Given the description of an element on the screen output the (x, y) to click on. 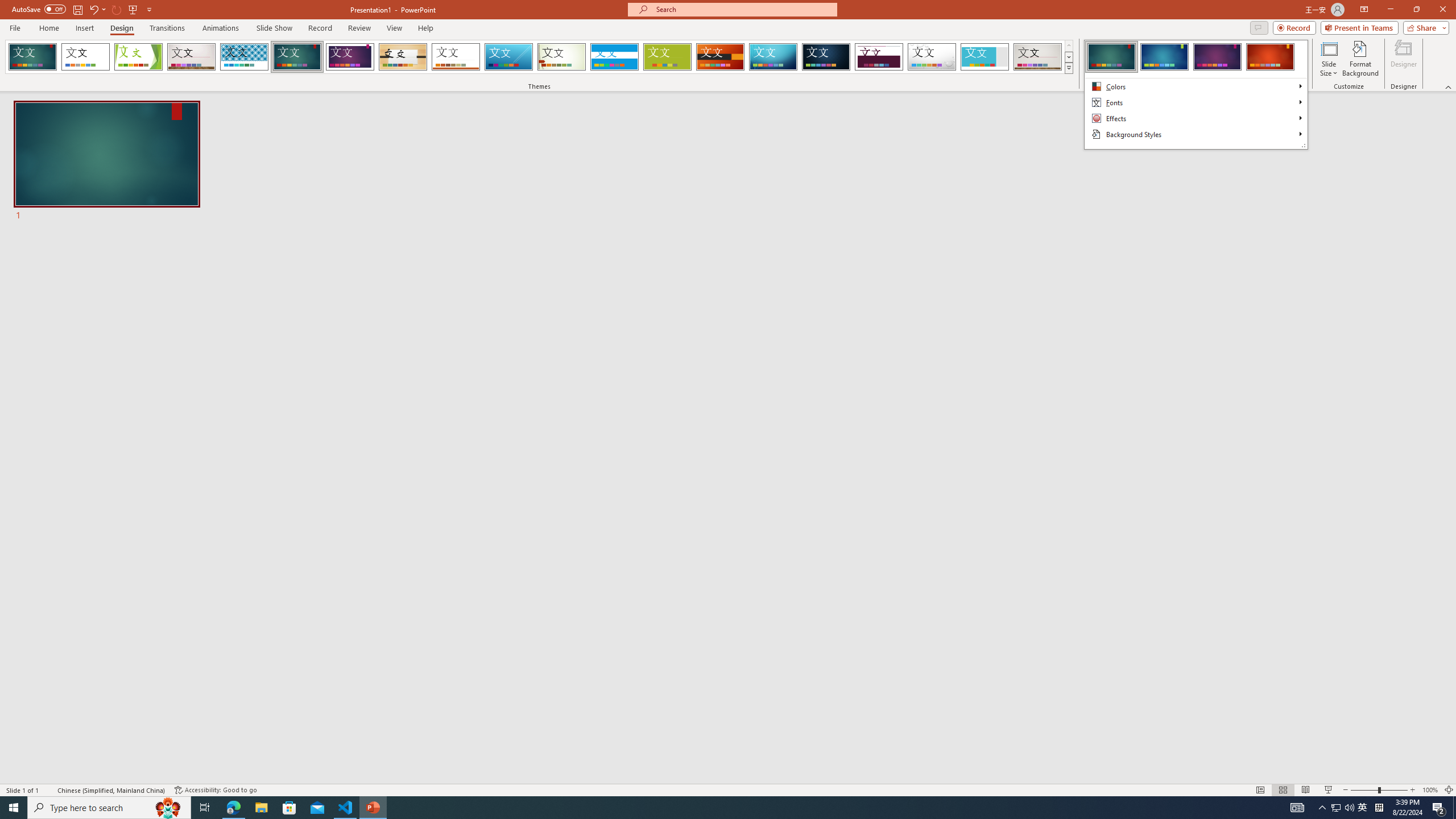
Basis Loading Preview... (667, 56)
